Given the description of an element on the screen output the (x, y) to click on. 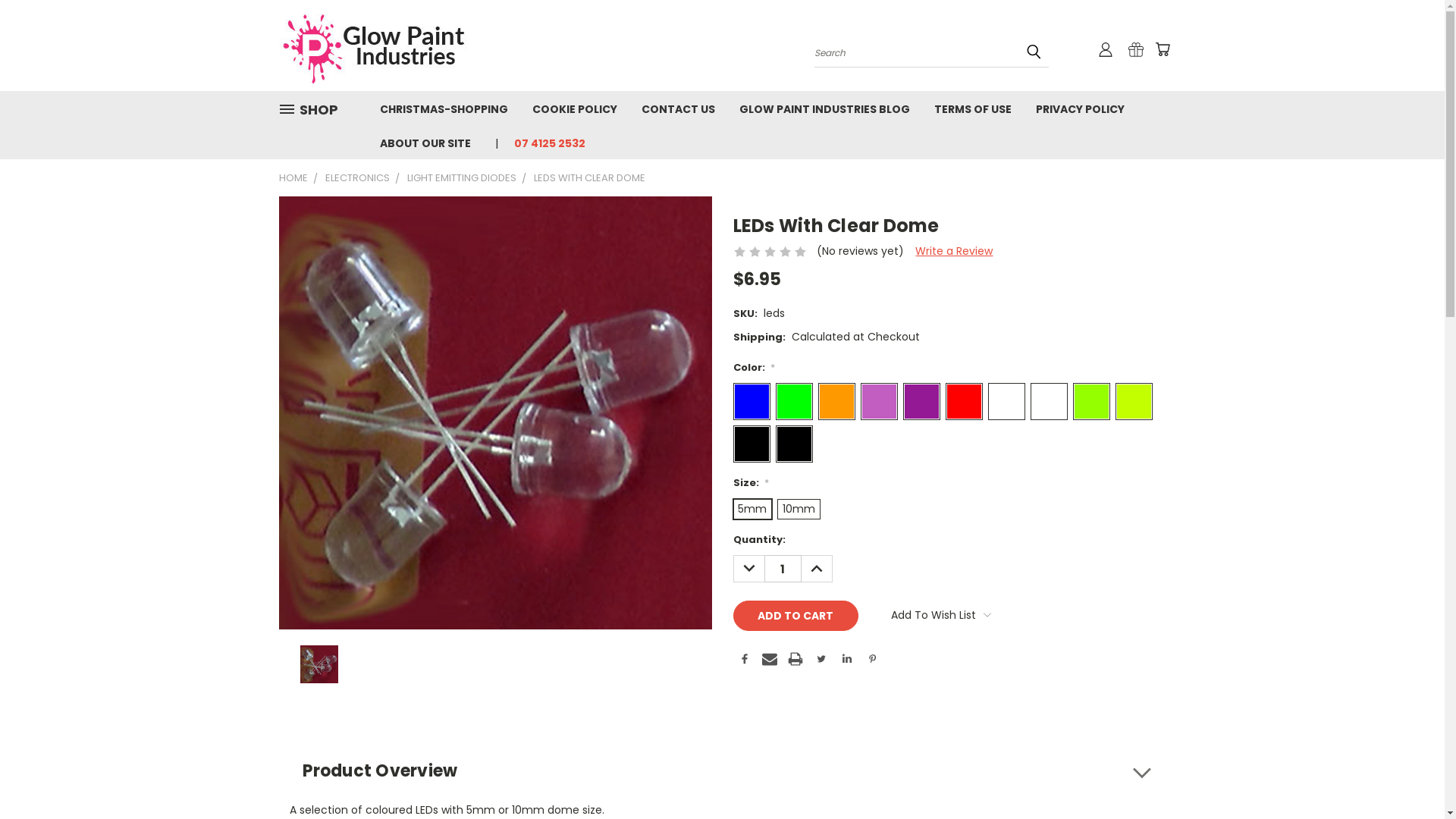
Green Element type: hover (793, 401)
HOME Element type: text (293, 177)
CHRISTMAS-SHOPPING Element type: text (443, 108)
SHOP Element type: text (314, 109)
White Element type: hover (1048, 401)
Red Element type: hover (963, 401)
Pink Element type: hover (878, 401)
LEds - Light emitting Diodes in various colours Element type: hover (495, 411)
CONTACT US Element type: text (678, 108)
Yellow/Green Element type: hover (1090, 401)
TERMS OF USE Element type: text (972, 108)
Yellow Element type: hover (1133, 401)
Blue Element type: hover (751, 401)
Warm White Element type: hover (1005, 401)
ELECTRONICS Element type: text (356, 177)
Purple Element type: hover (920, 401)
submit Element type: hover (1033, 51)
LEds - Light emitting Diodes in various colours Element type: hover (319, 663)
RGB Element type: hover (751, 443)
PRIVACY POLICY Element type: text (1079, 108)
GLOW PAINT INDUSTRIES BLOG Element type: text (823, 108)
Write a Review Element type: text (953, 250)
LIGHT EMITTING DIODES Element type: text (460, 177)
07 4125 2532 Element type: text (543, 142)
COOKIE POLICY Element type: text (574, 108)
All 11 Colours Element type: hover (793, 443)
DECREASE QUANTITY: Element type: text (747, 568)
Orange Element type: hover (836, 401)
glowpaint Element type: hover (373, 45)
Add To Wish List Element type: text (940, 614)
ABOUT OUR SITE Element type: text (424, 142)
Add to Cart Element type: text (795, 615)
INCREASE QUANTITY: Element type: text (815, 568)
